Given the description of an element on the screen output the (x, y) to click on. 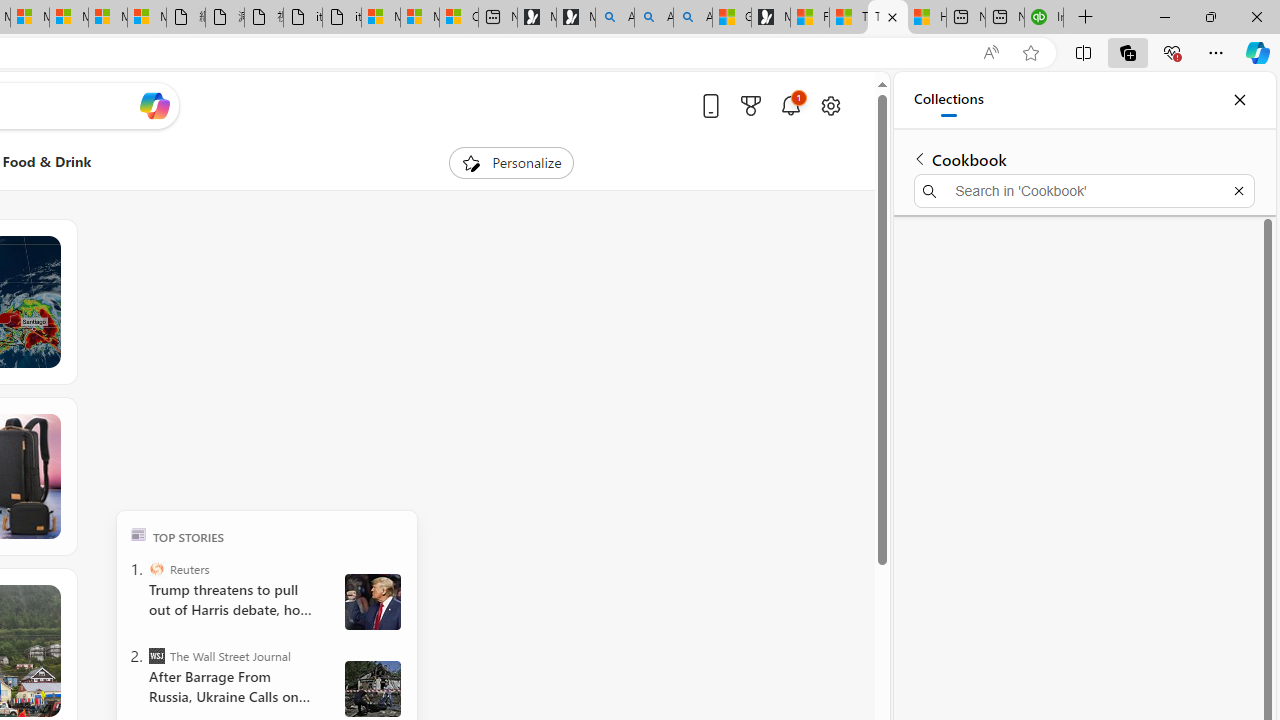
Intuit QuickBooks Online - Quickbooks (1044, 17)
